Given the description of an element on the screen output the (x, y) to click on. 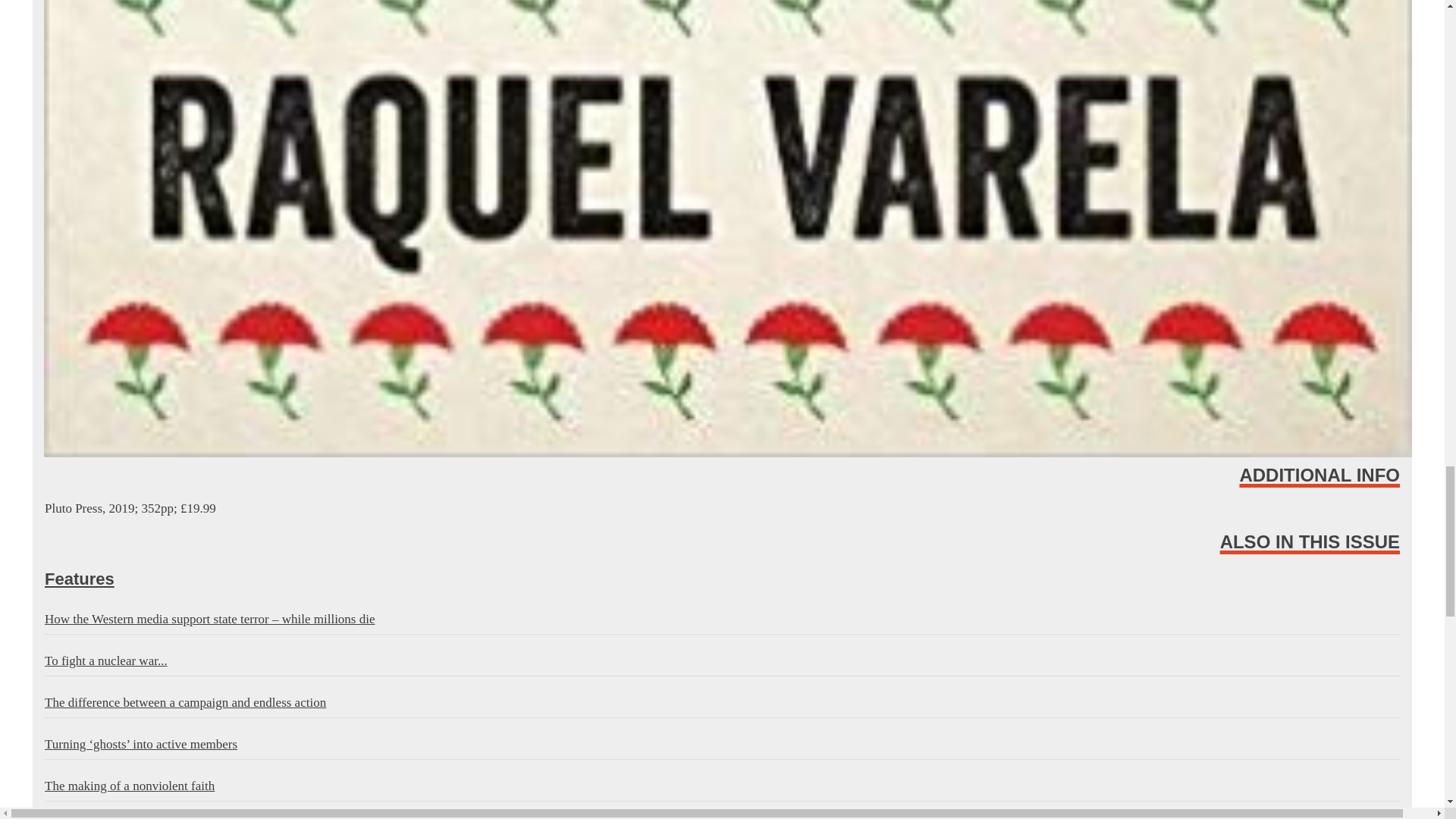
The difference between a campaign and endless action (722, 703)
To fight a nuclear war... (722, 661)
Features (722, 578)
The making of a nonviolent faith (722, 787)
